Given the description of an element on the screen output the (x, y) to click on. 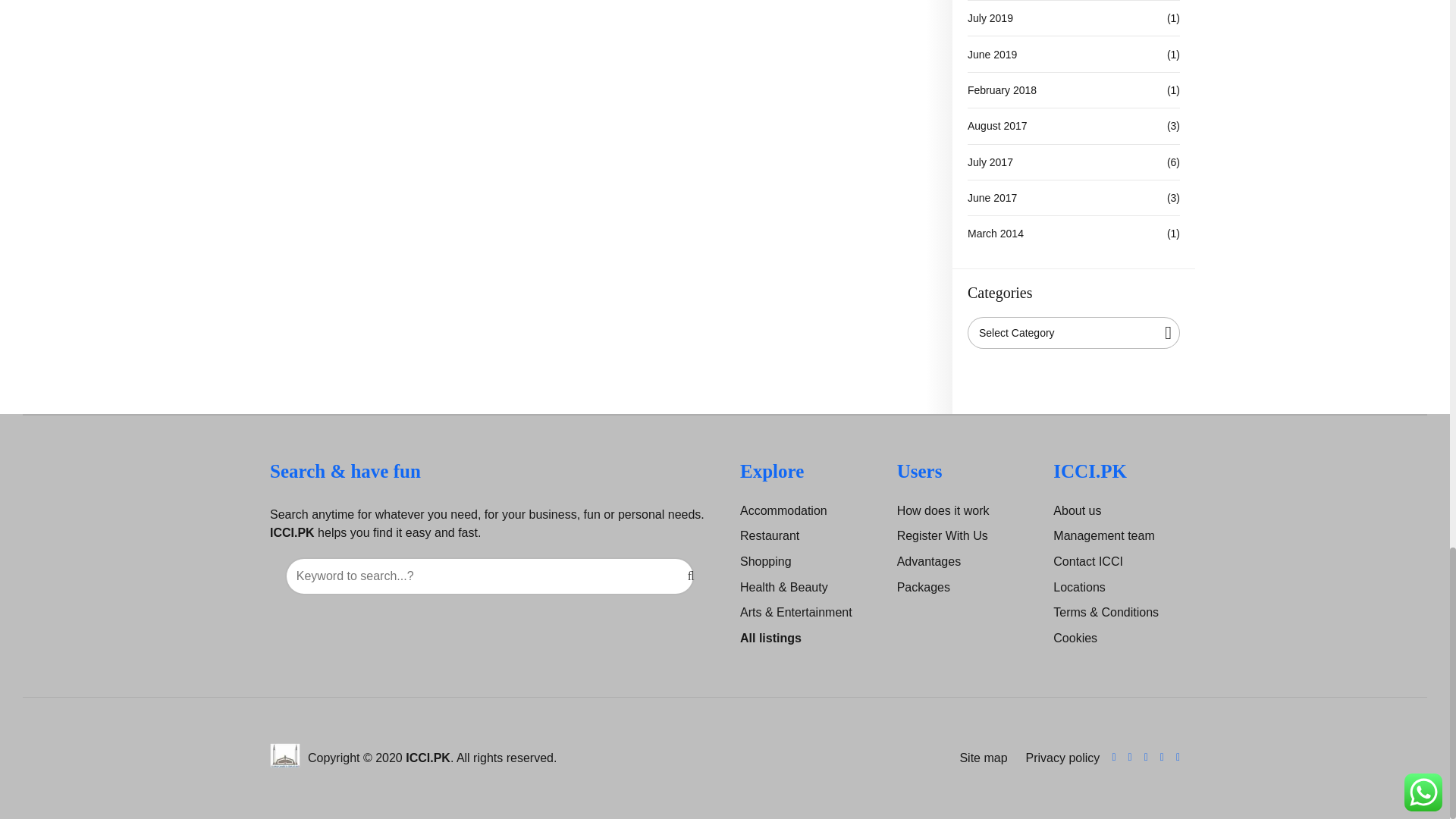
Site map (980, 757)
Privacy policy (1060, 757)
